Given the description of an element on the screen output the (x, y) to click on. 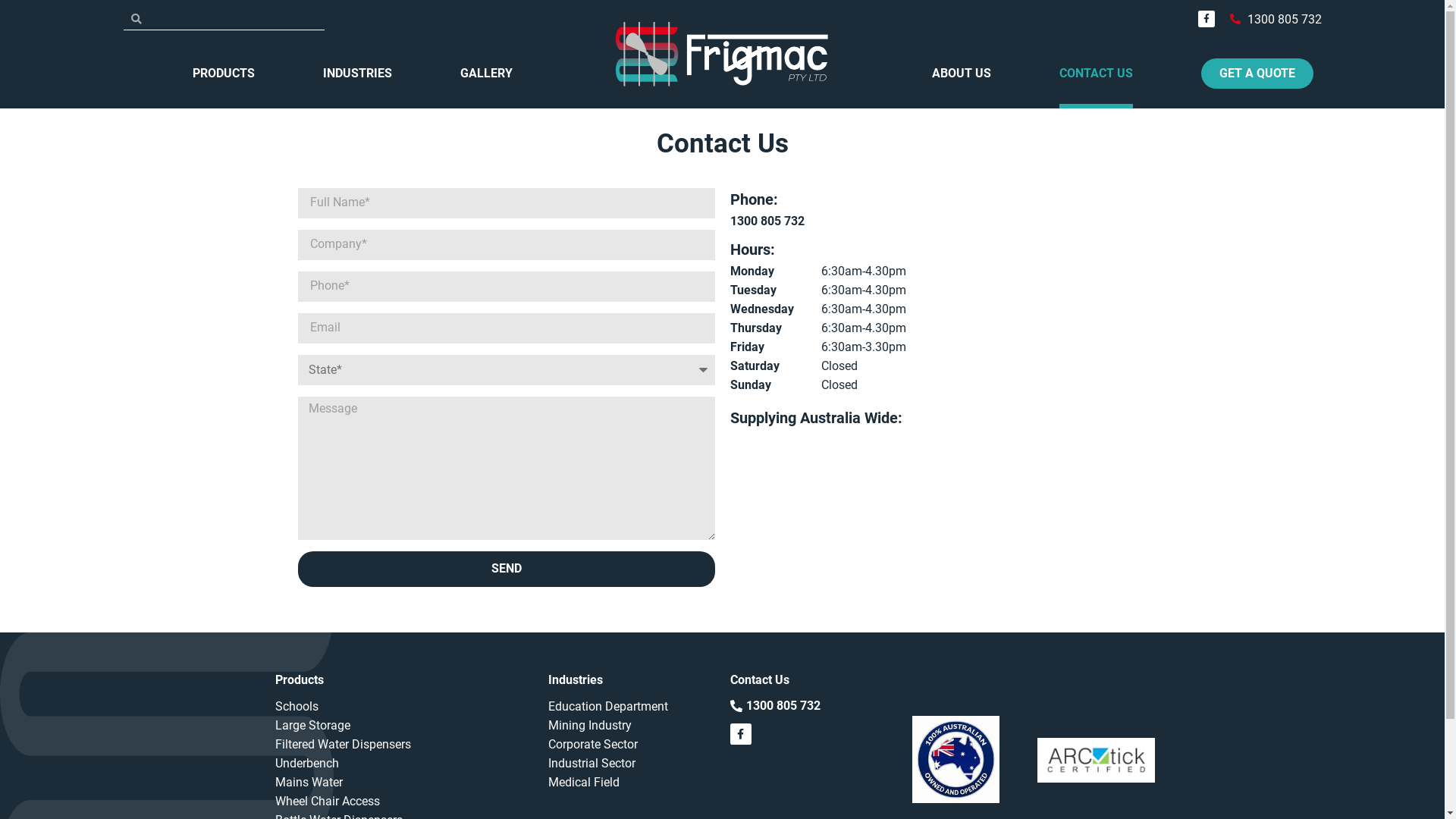
Filtered Water Dispensers Element type: text (403, 743)
1300 805 732 Element type: text (766, 220)
Corporate Sector Element type: text (630, 743)
Wheel Chair Access Element type: text (403, 800)
Schools Element type: text (403, 705)
Industrial Sector Element type: text (630, 762)
GALLERY Element type: text (486, 72)
INDUSTRIES Element type: text (357, 72)
SEND Element type: text (505, 568)
Education Department Element type: text (630, 705)
Mains Water Element type: text (403, 781)
CONTACT US Element type: text (1095, 72)
Medical Field Element type: text (630, 781)
PRODUCTS Element type: text (223, 72)
GET A QUOTE Element type: text (1257, 72)
1300 805 732 Element type: text (1275, 18)
1300 805 732 Element type: text (774, 705)
Mining Industry Element type: text (630, 724)
Underbench Element type: text (403, 762)
Large Storage Element type: text (403, 724)
ABOUT US Element type: text (961, 72)
